Given the description of an element on the screen output the (x, y) to click on. 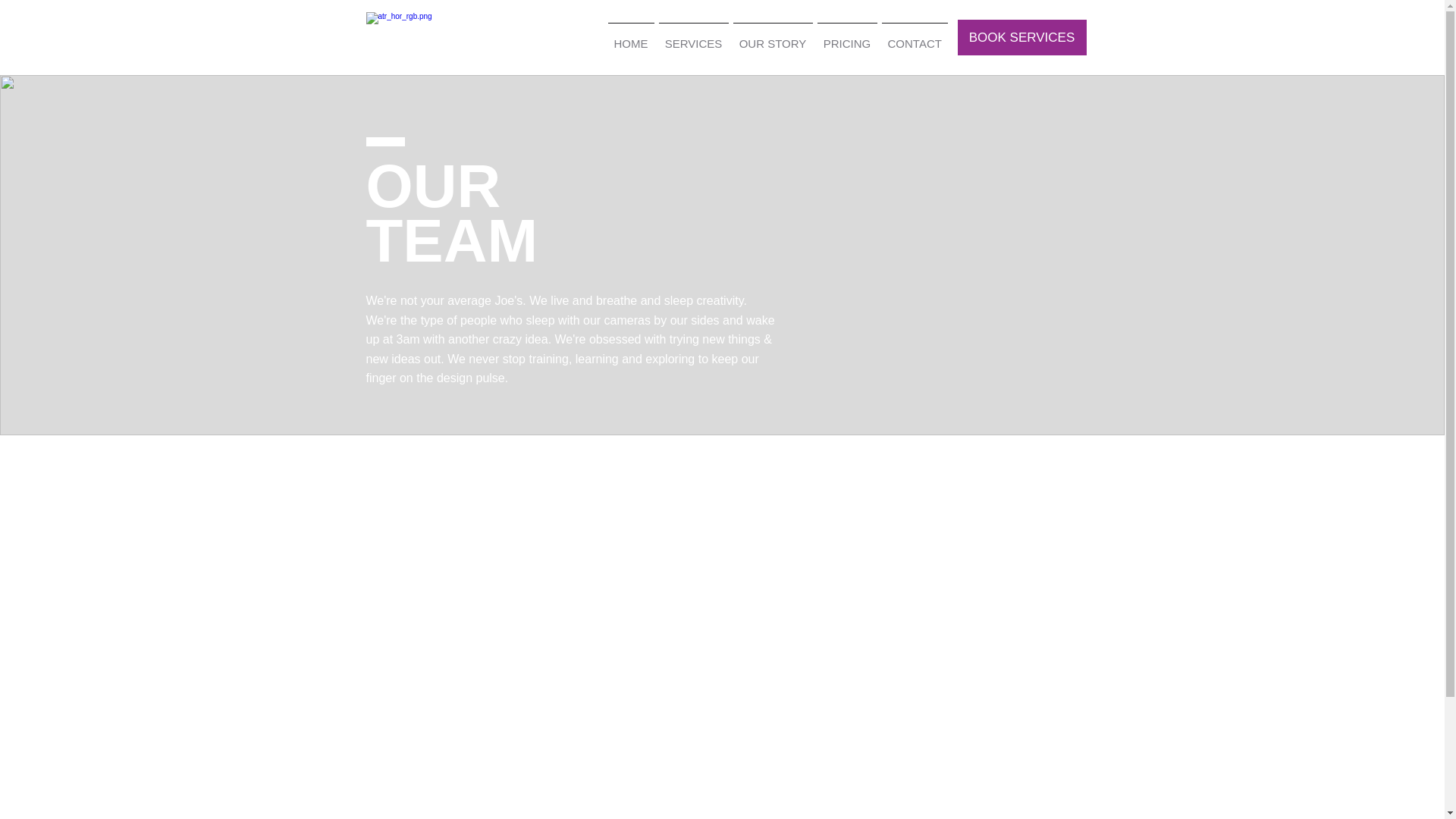
CONTACT (914, 36)
PRICING (846, 36)
OUR STORY (772, 36)
HOME (630, 36)
BOOK SERVICES (1021, 37)
SERVICES (693, 36)
